Given the description of an element on the screen output the (x, y) to click on. 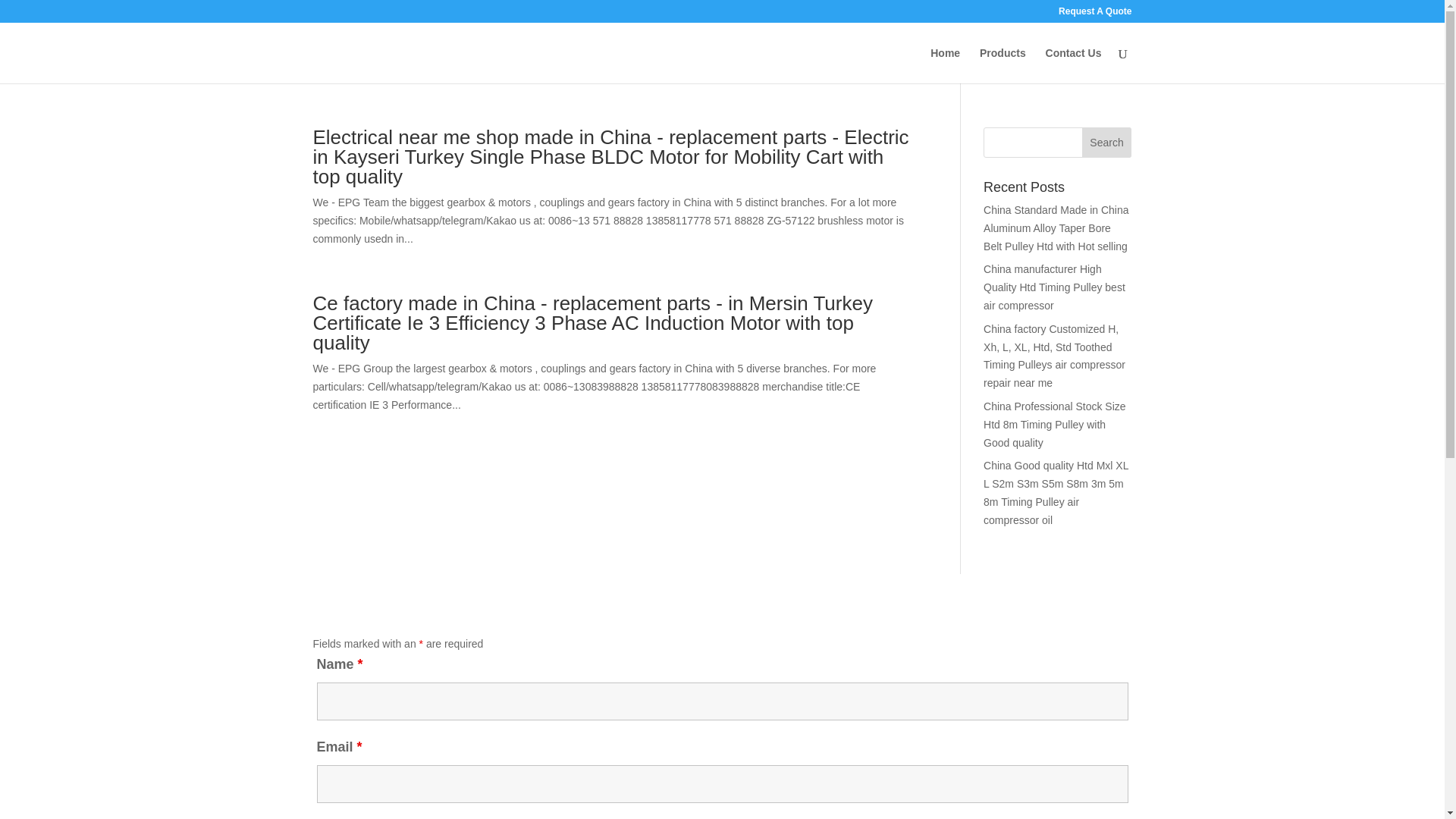
Products (1002, 65)
Search (1106, 142)
Request A Quote (1094, 14)
Contact Us (1073, 65)
Search (1106, 142)
